Given the description of an element on the screen output the (x, y) to click on. 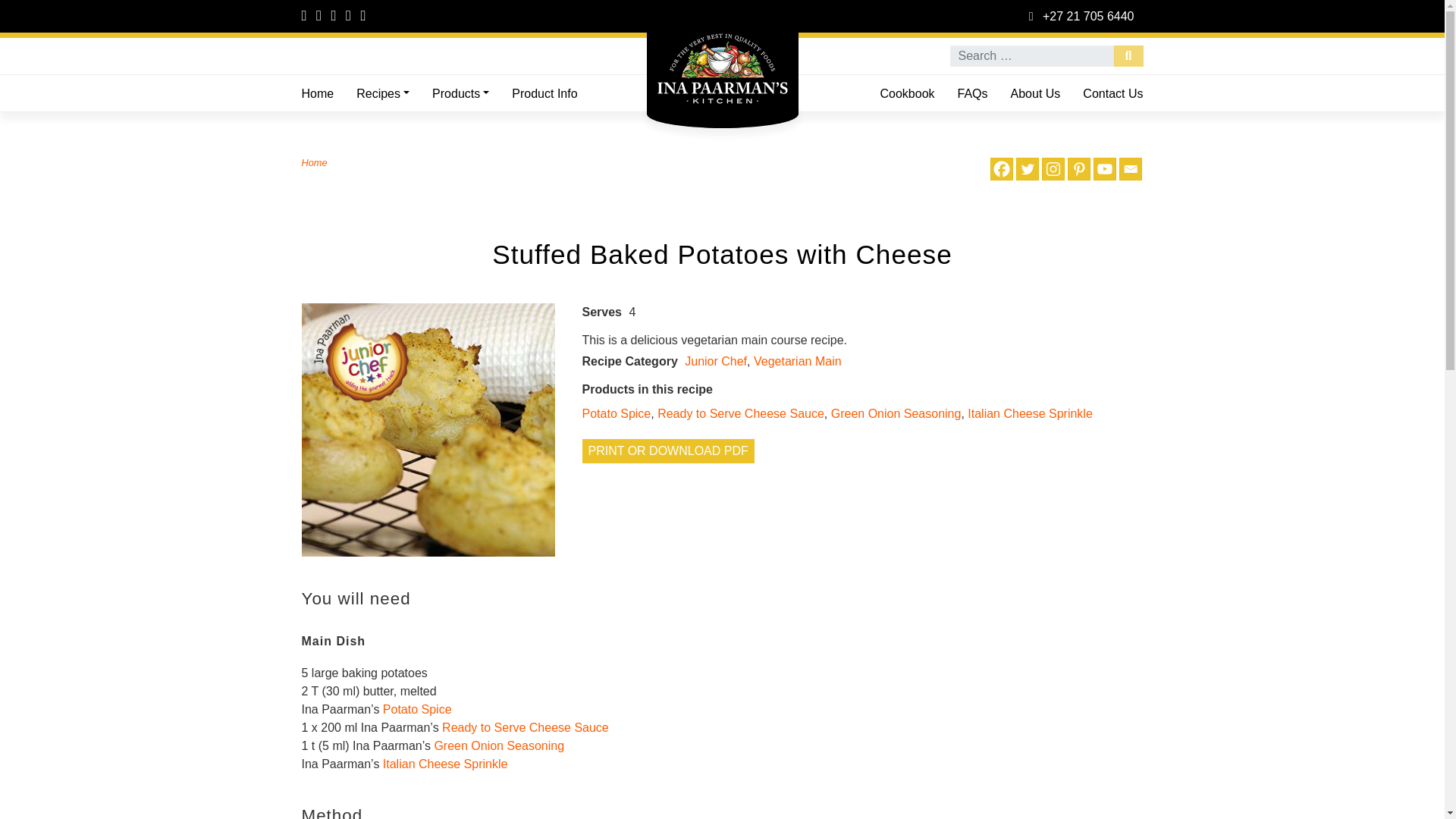
Email (1130, 169)
Products (460, 94)
Instagram (1053, 169)
Product Info (544, 94)
Ina Paarman (721, 56)
About Us (1034, 94)
Recipes (382, 94)
Ina Paarman (721, 56)
Cookbook (905, 94)
Stuffed Baked Potatoes with Cheese (427, 429)
